Given the description of an element on the screen output the (x, y) to click on. 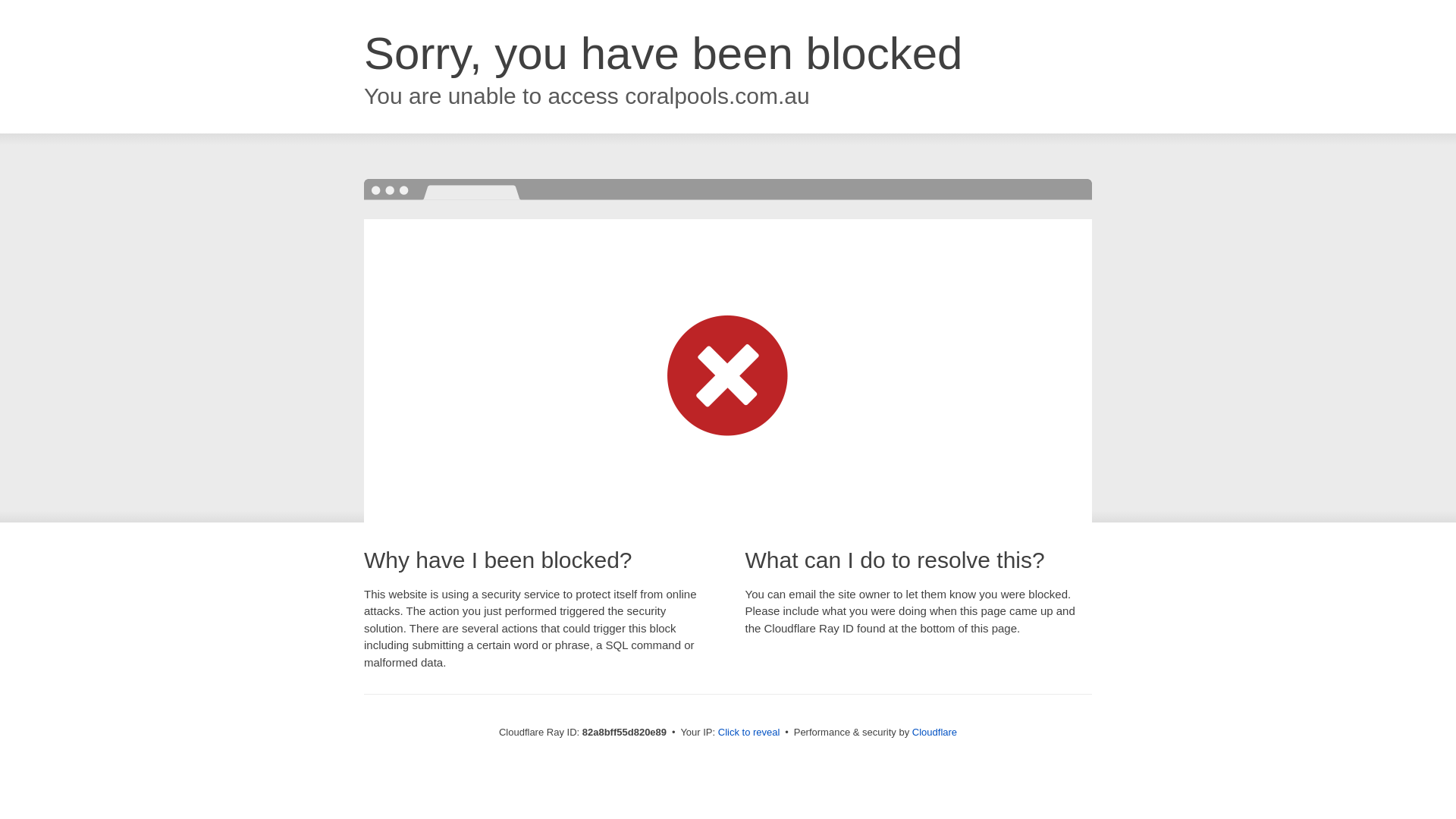
Click to reveal Element type: text (749, 732)
Cloudflare Element type: text (934, 731)
